Given the description of an element on the screen output the (x, y) to click on. 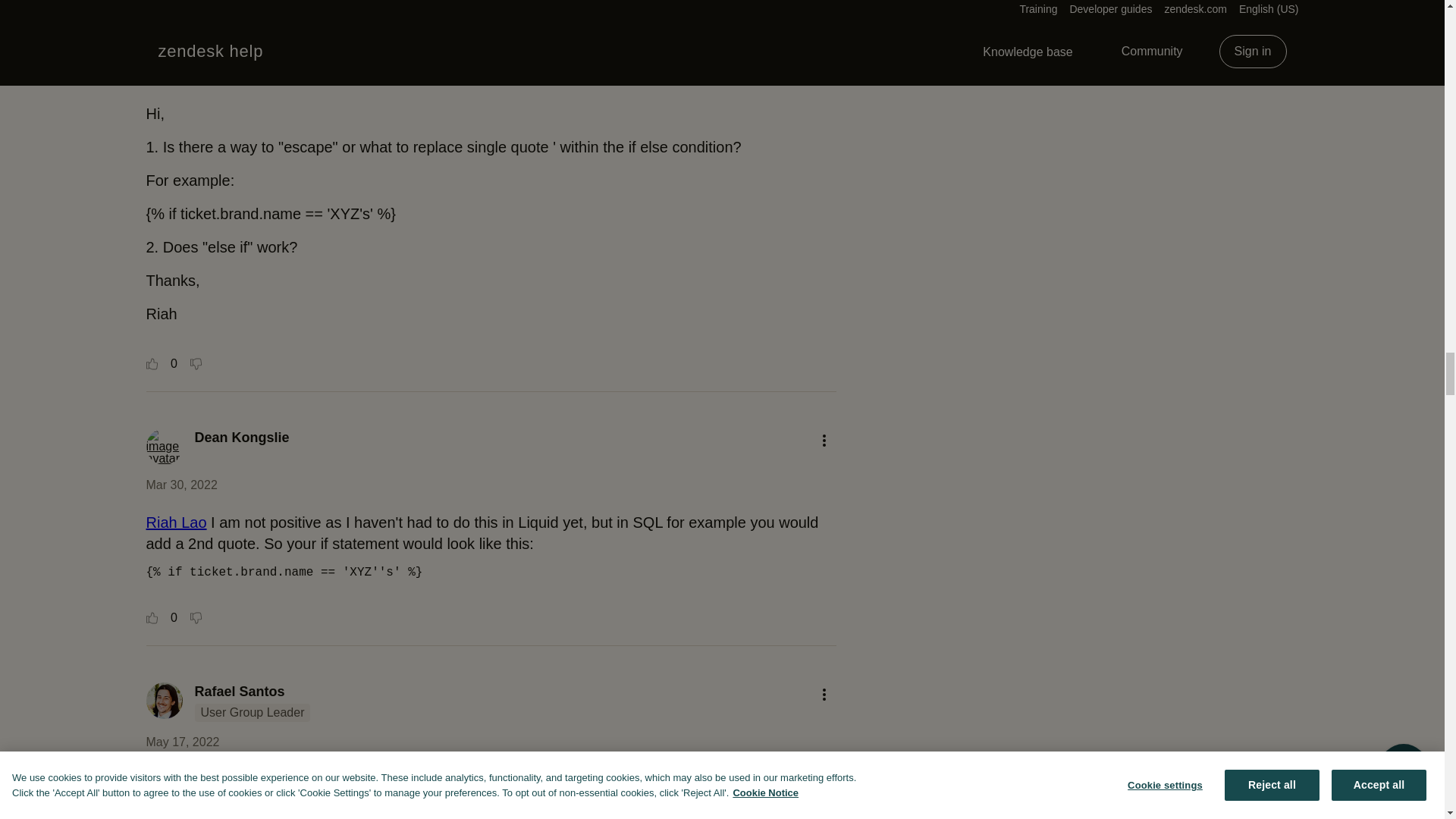
Mar 30, 2022 (180, 484)
May 17, 2022 (182, 741)
Mar 30, 2022 (180, 75)
